Given the description of an element on the screen output the (x, y) to click on. 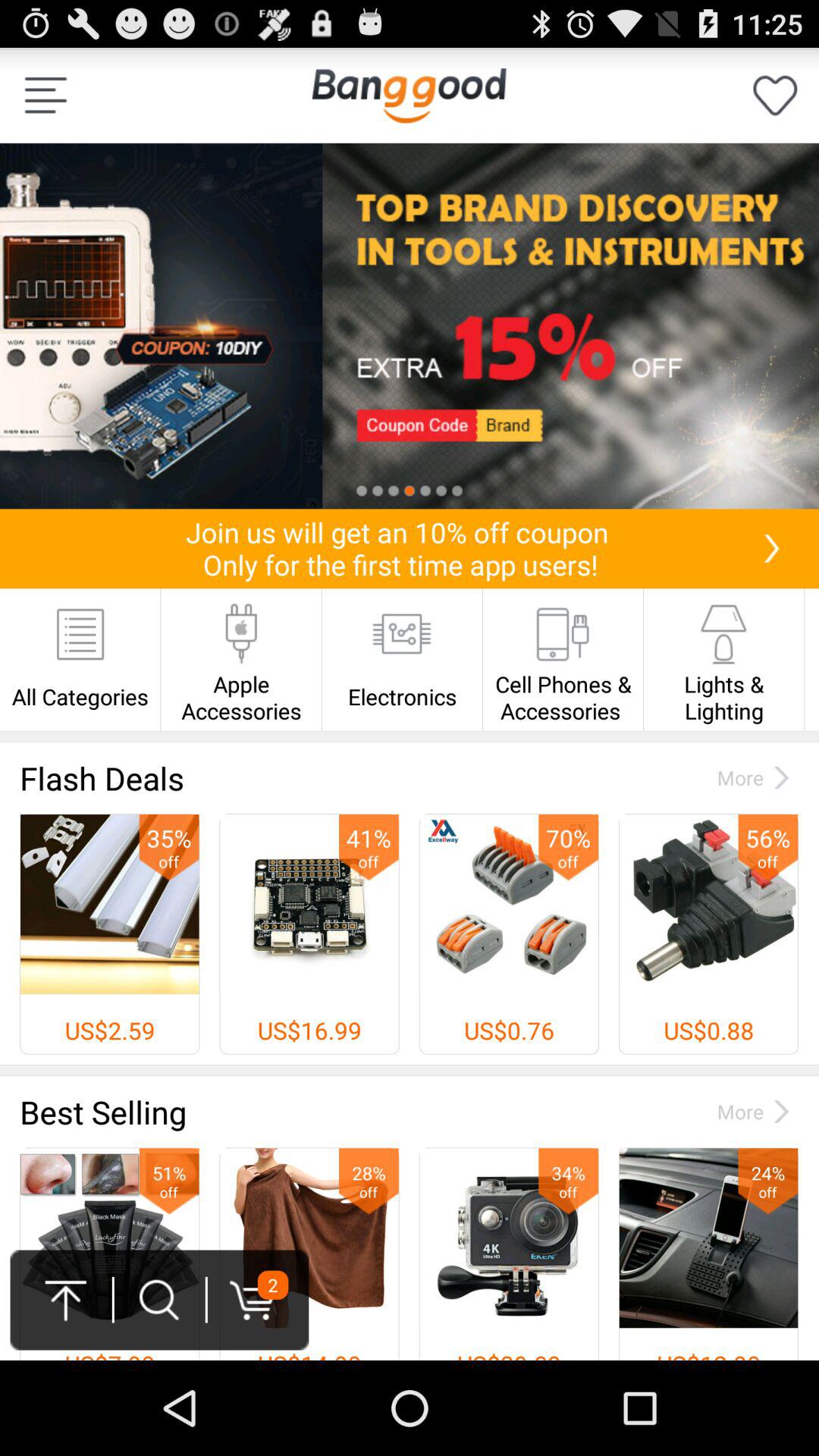
click on advertisement (409, 326)
